Given the description of an element on the screen output the (x, y) to click on. 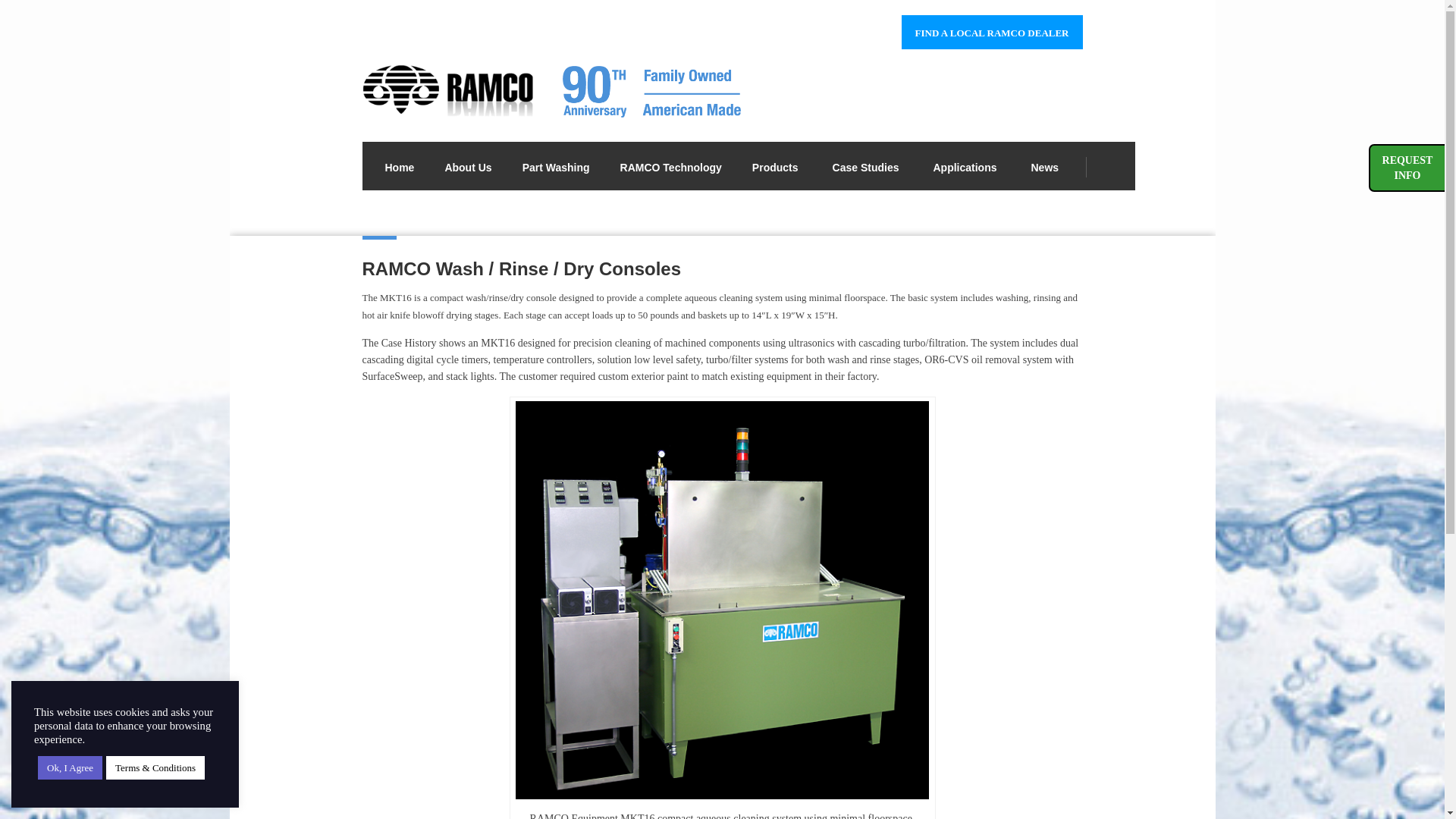
Home (399, 165)
About Us (467, 165)
FIND A LOCAL RAMCO DEALER (992, 32)
Case Studies (867, 165)
News (1045, 165)
Applications (965, 165)
RAMCO Technology (670, 165)
Part Washing (555, 165)
Ok, I Agree (69, 767)
Products (776, 165)
